Given the description of an element on the screen output the (x, y) to click on. 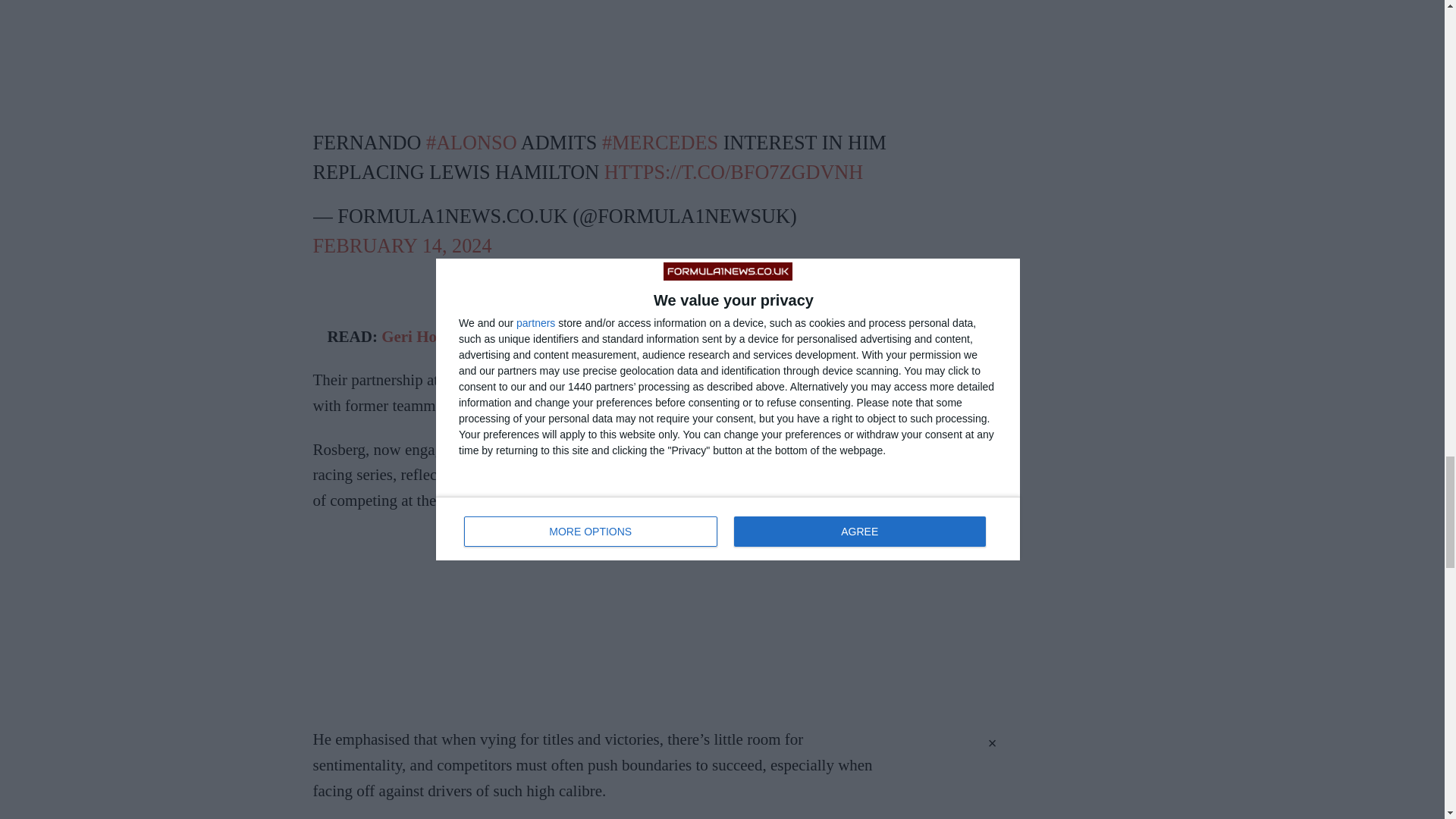
FEBRUARY 14, 2024 (402, 246)
